Given the description of an element on the screen output the (x, y) to click on. 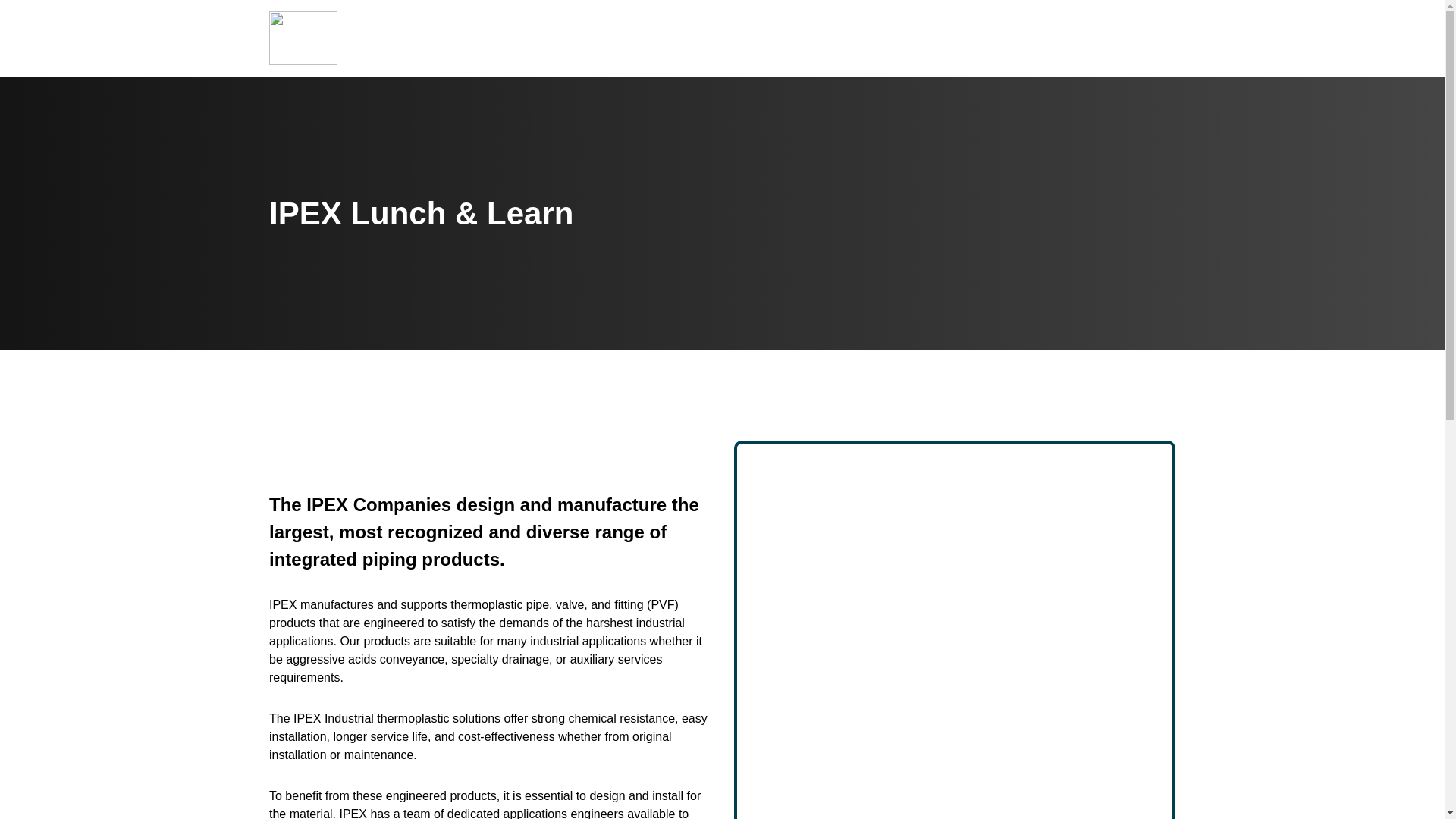
ipex-logo-blue (303, 38)
